Given the description of an element on the screen output the (x, y) to click on. 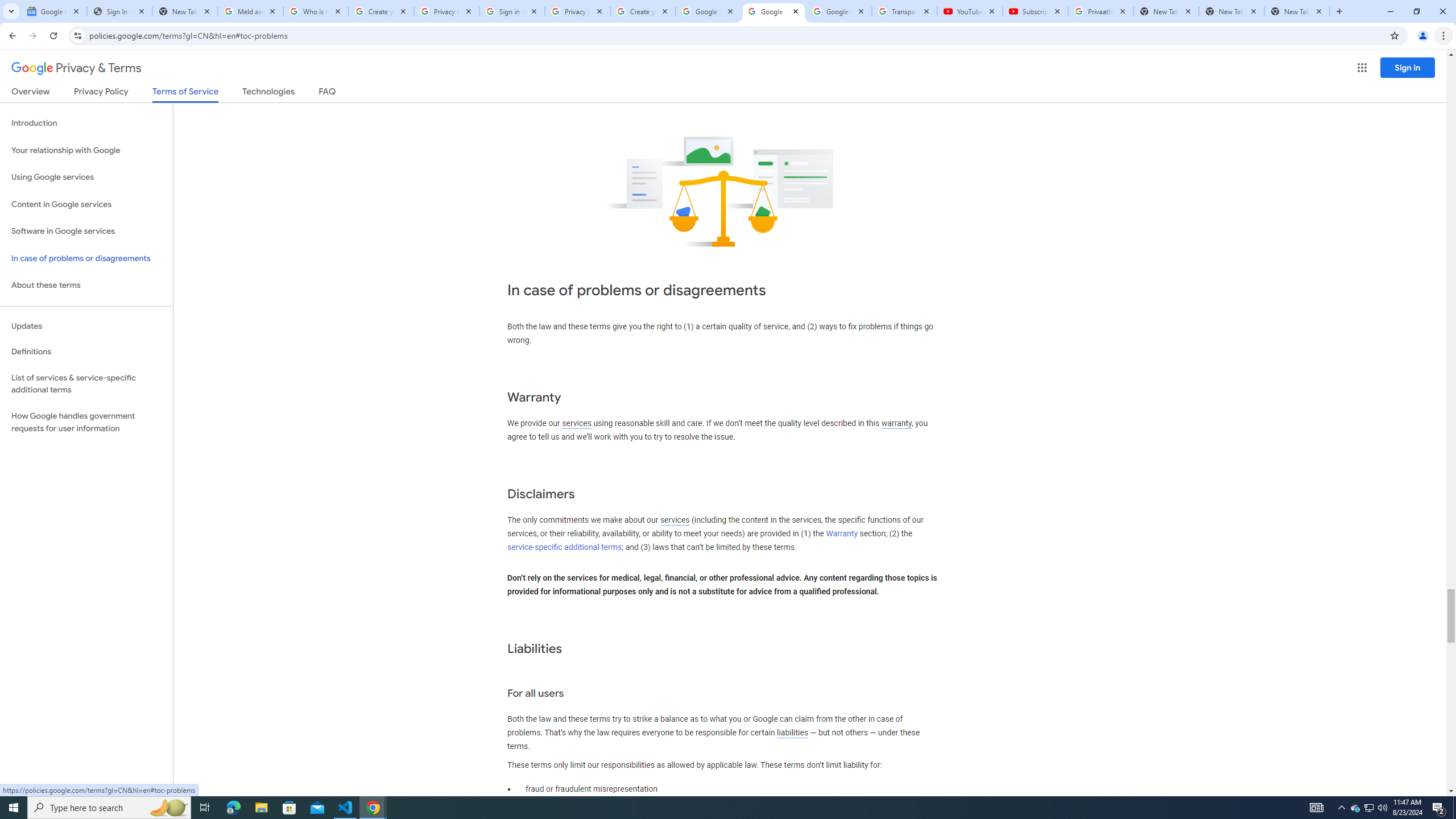
About these terms (86, 284)
service-specific additional terms (563, 547)
Create your Google Account (381, 11)
Privacy Policy (100, 93)
Your relationship with Google (86, 150)
Updates (86, 325)
List of services & service-specific additional terms (86, 383)
Privacy & Terms (76, 68)
